Given the description of an element on the screen output the (x, y) to click on. 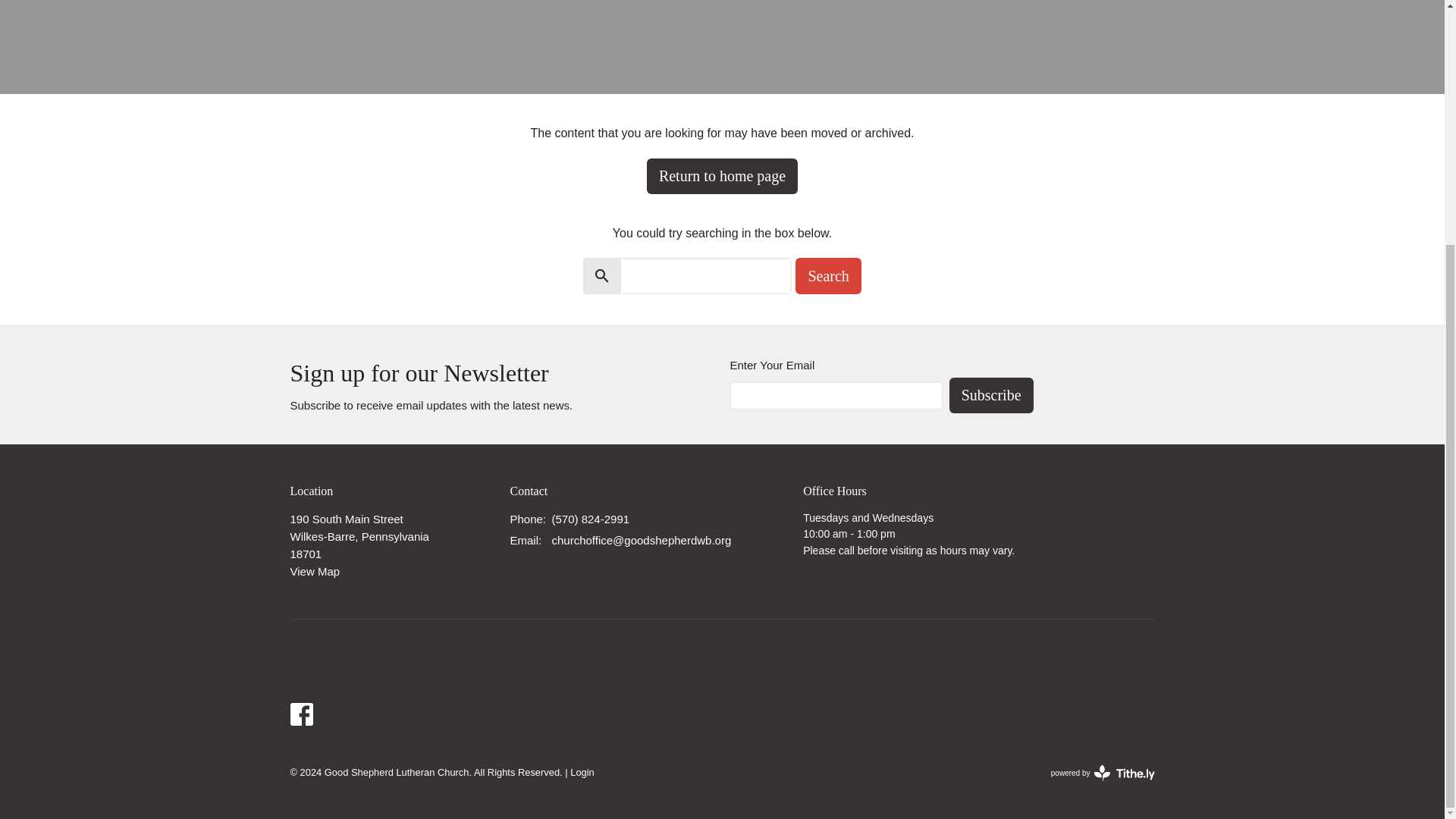
translation missing: en.ui.email (523, 540)
View Map (314, 571)
Search (827, 275)
Login (582, 772)
Subscribe (1102, 772)
Return to home page (991, 395)
